Given the description of an element on the screen output the (x, y) to click on. 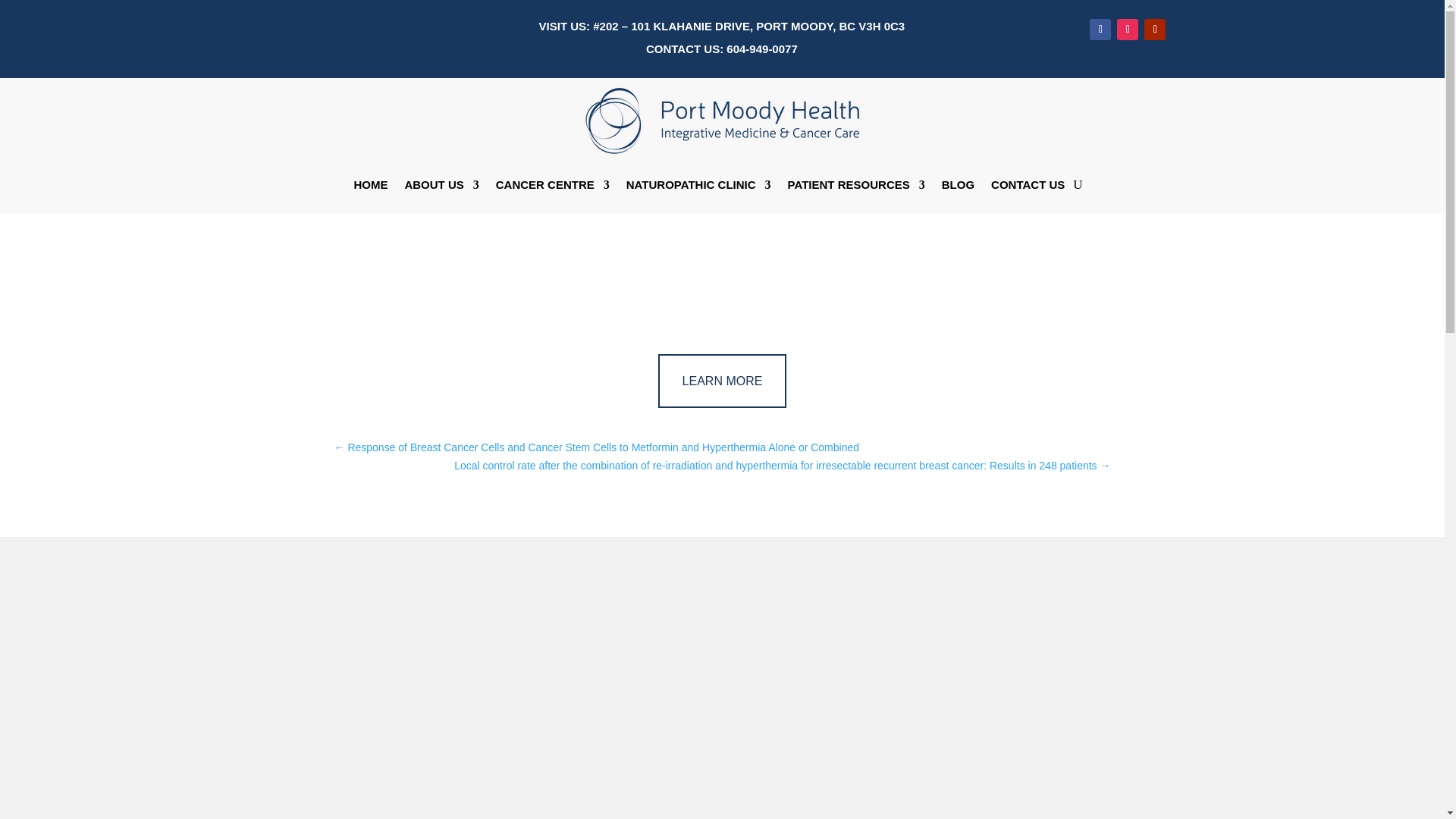
Follow on Instagram (1127, 29)
Follow on Youtube (1155, 29)
Follow on Facebook (1099, 29)
